Given the description of an element on the screen output the (x, y) to click on. 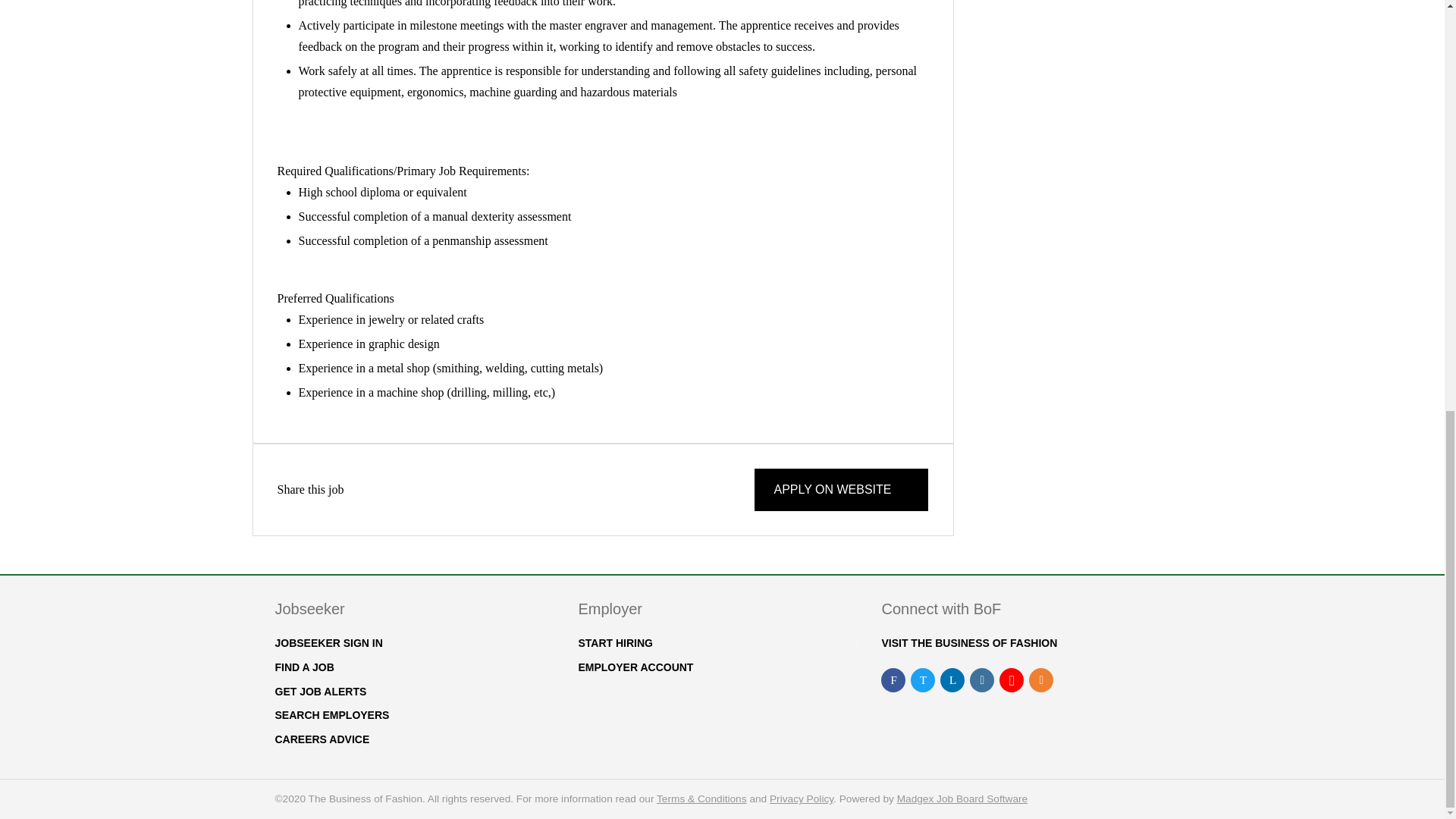
Twitter (371, 489)
JOBSEEKER SIGN IN (328, 643)
Facebook (353, 489)
LinkedIn (390, 489)
